Given the description of an element on the screen output the (x, y) to click on. 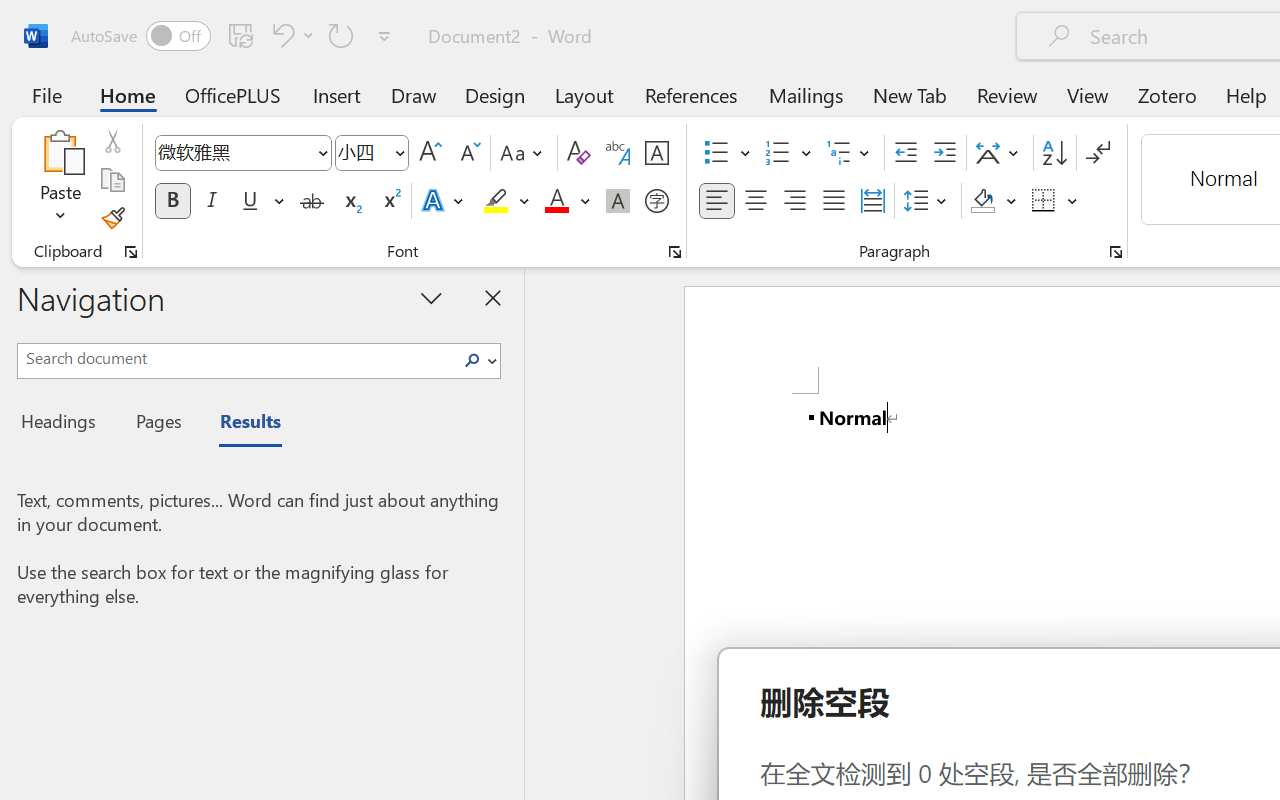
Paragraph... (1115, 252)
Font (234, 152)
File Tab (46, 94)
References (690, 94)
Strikethrough (312, 201)
Borders (1055, 201)
Decrease Indent (906, 153)
Italic (212, 201)
Numbering (778, 153)
Cut (112, 141)
New Tab (909, 94)
Mailings (806, 94)
Text Effects and Typography (444, 201)
Numbering (788, 153)
